Given the description of an element on the screen output the (x, y) to click on. 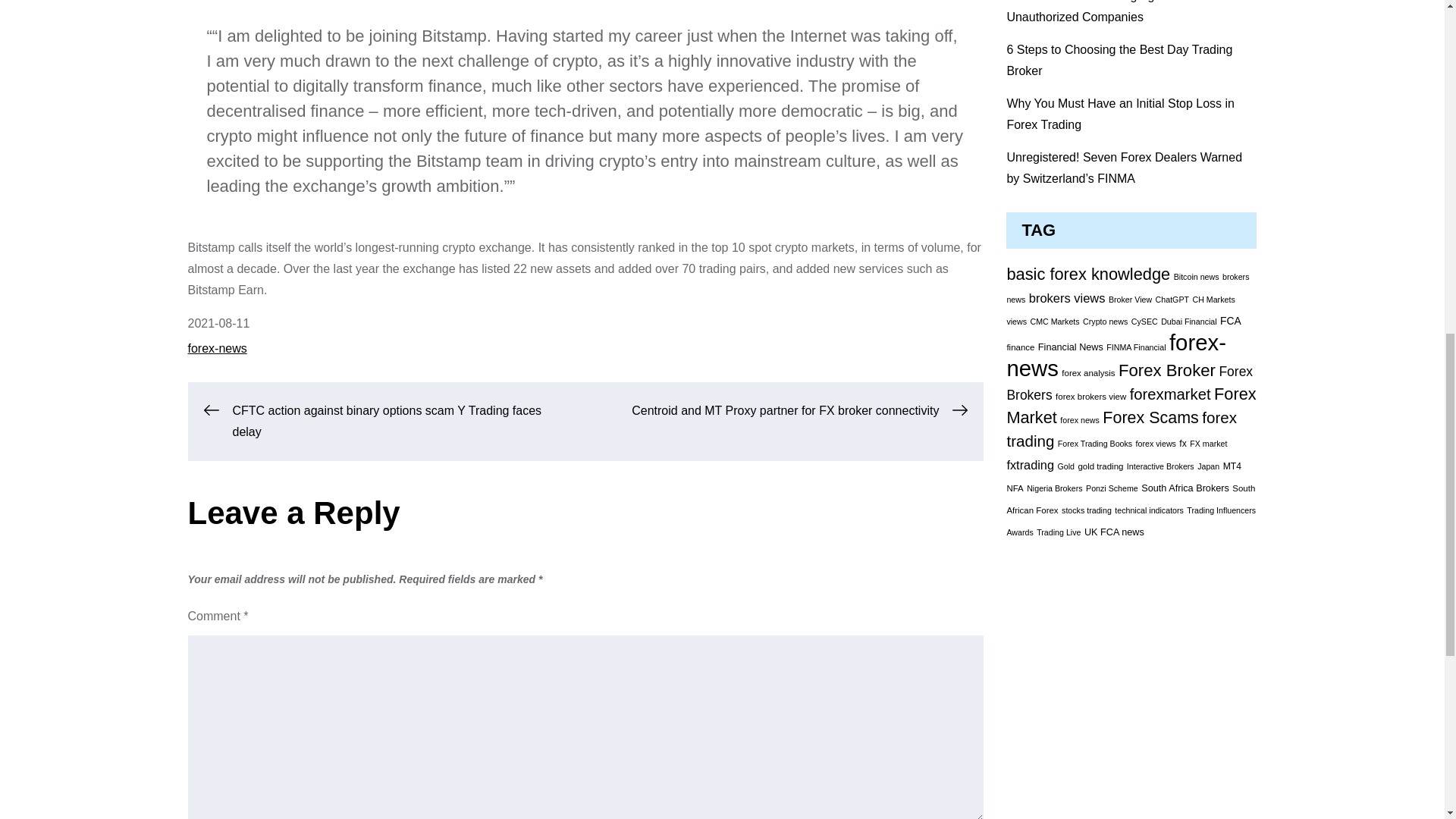
CH Markets views (1120, 309)
FCA (1230, 320)
ChatGPT (1172, 298)
UK FCA Issues Warning Against 18 Unauthorized Companies (1101, 11)
CMC Markets (1055, 320)
2021-08-11 (218, 323)
brokers views (1067, 297)
Broker View (1129, 298)
basic forex knowledge (1088, 273)
CySEC (1144, 320)
